Given the description of an element on the screen output the (x, y) to click on. 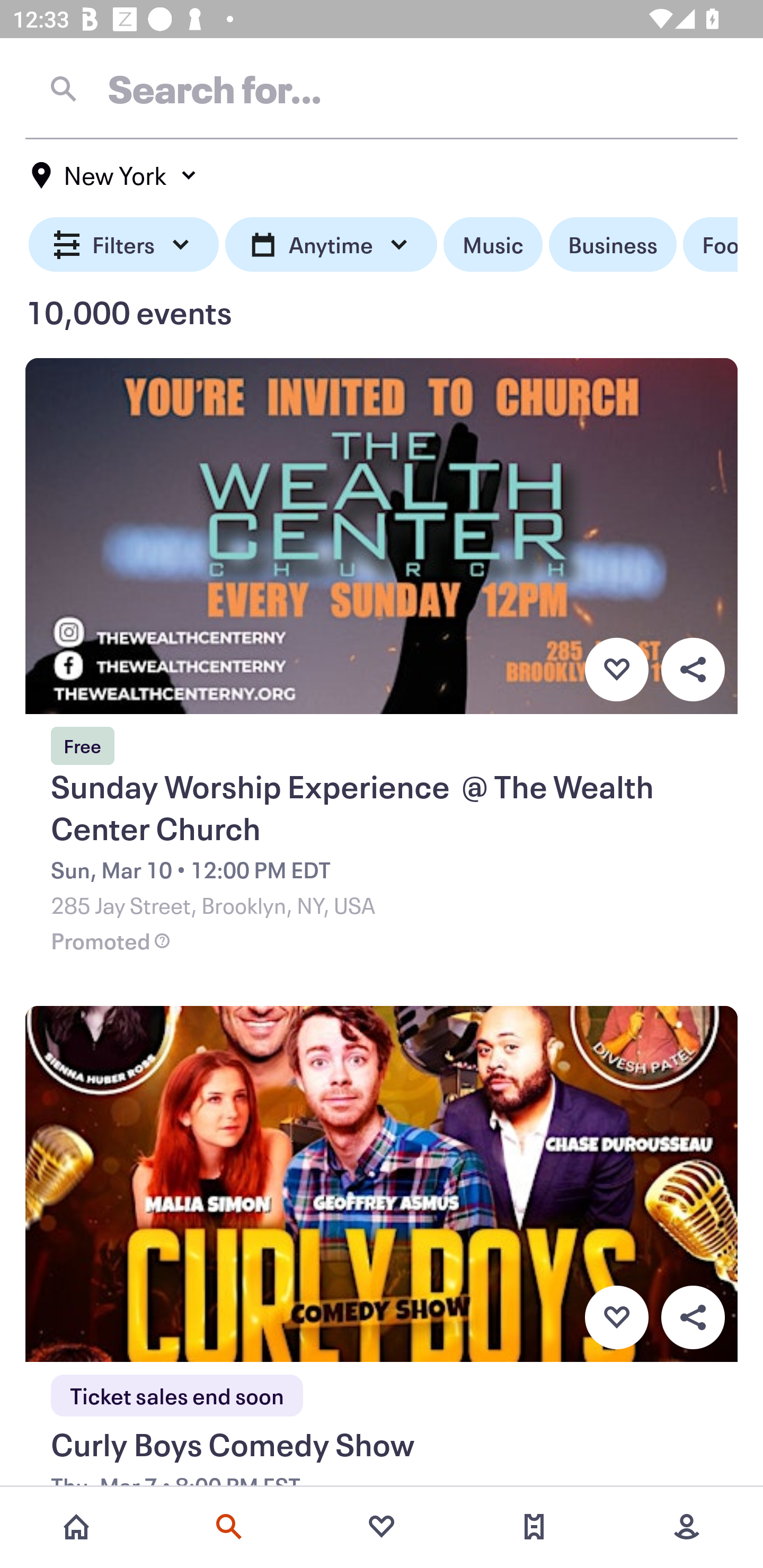
Search for… (381, 88)
New York (114, 175)
Filters (123, 244)
Anytime (331, 244)
Music (492, 244)
Business (612, 244)
Favorite button (616, 669)
Overflow menu button (692, 669)
Favorite button (616, 1317)
Overflow menu button (692, 1317)
Home (76, 1526)
Search events (228, 1526)
Favorites (381, 1526)
Tickets (533, 1526)
More (686, 1526)
